Given the description of an element on the screen output the (x, y) to click on. 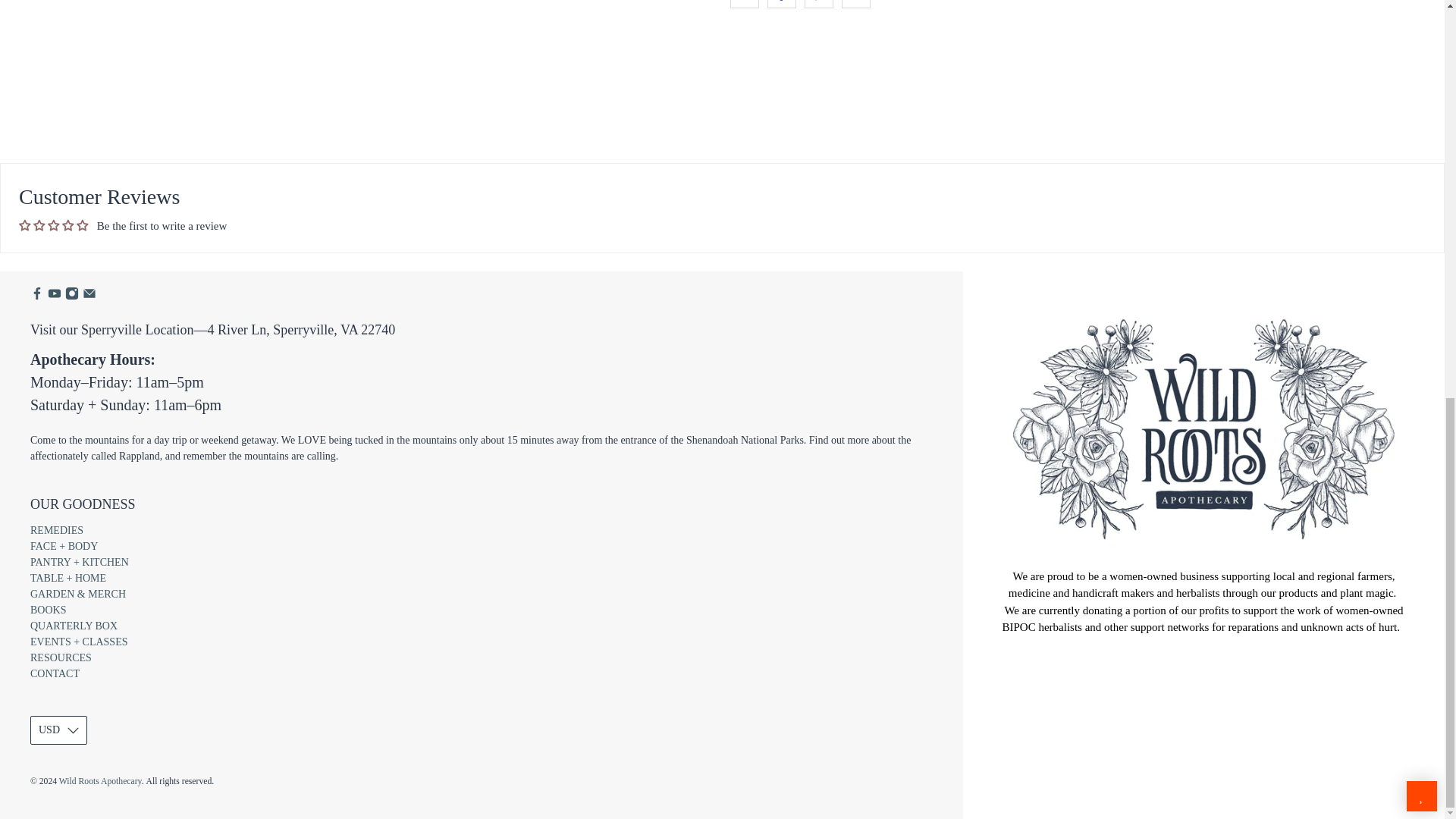
Email this to a friend (855, 4)
Share this on Twitter (743, 4)
Share this on Pinterest (818, 4)
Wild Roots Apothecary on Facebook (36, 296)
Share this on Facebook (781, 4)
Email Wild Roots Apothecary (89, 296)
Wild Roots Apothecary on Instagram (71, 296)
Wild Roots Apothecary on YouTube (54, 296)
